Given the description of an element on the screen output the (x, y) to click on. 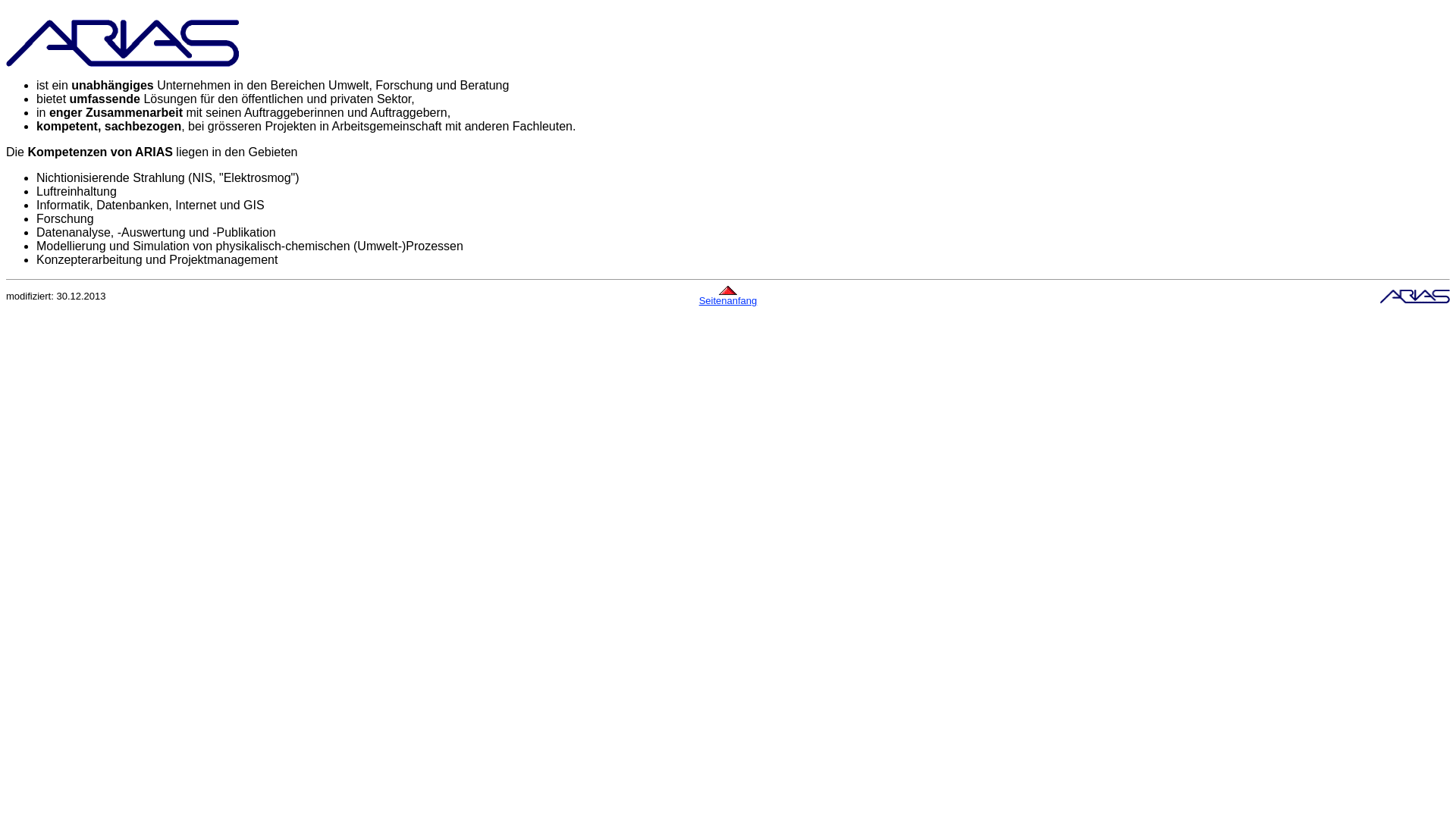
Seitenanfang Element type: text (728, 300)
